Given the description of an element on the screen output the (x, y) to click on. 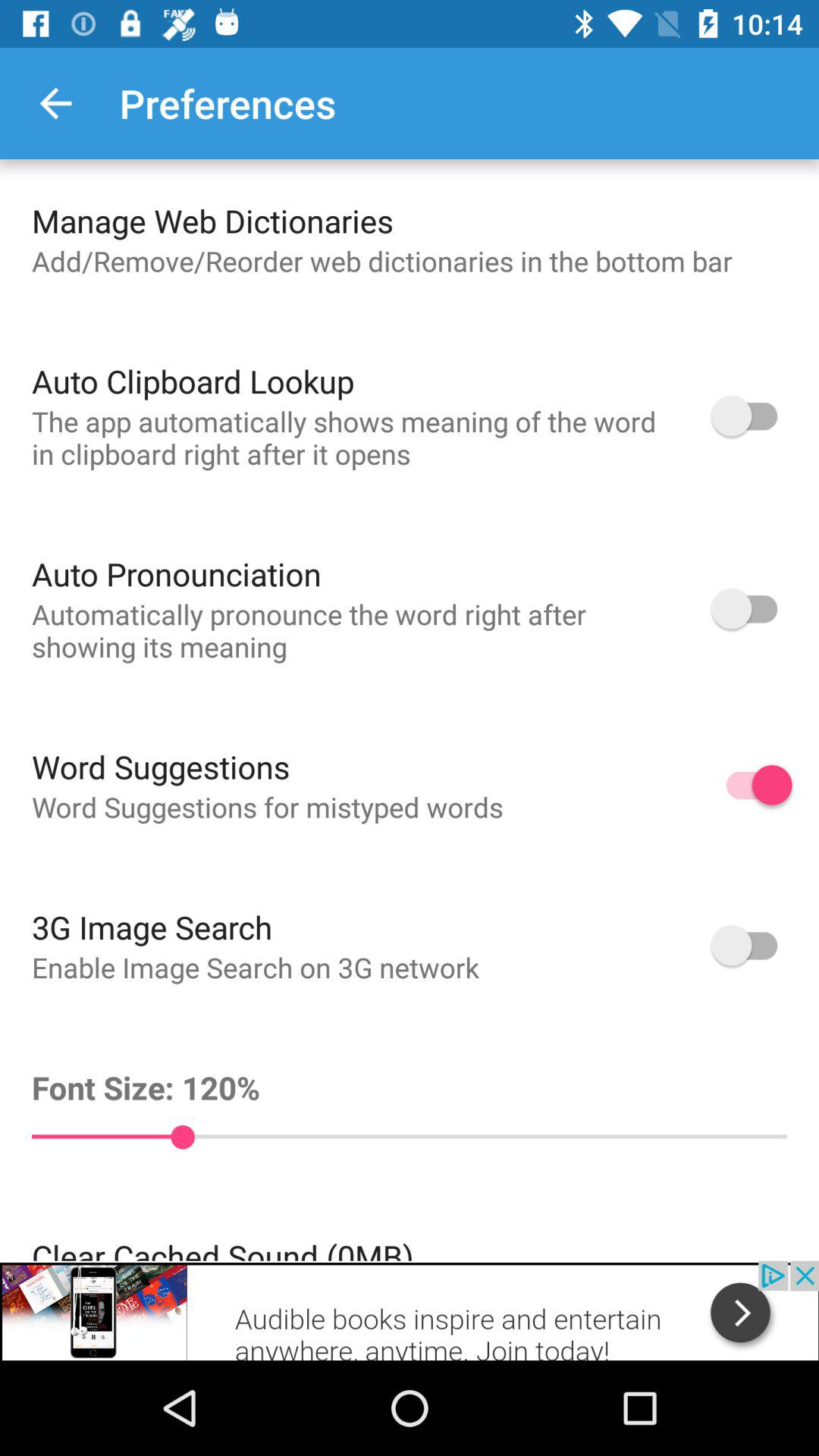
enable the option (751, 416)
